Given the description of an element on the screen output the (x, y) to click on. 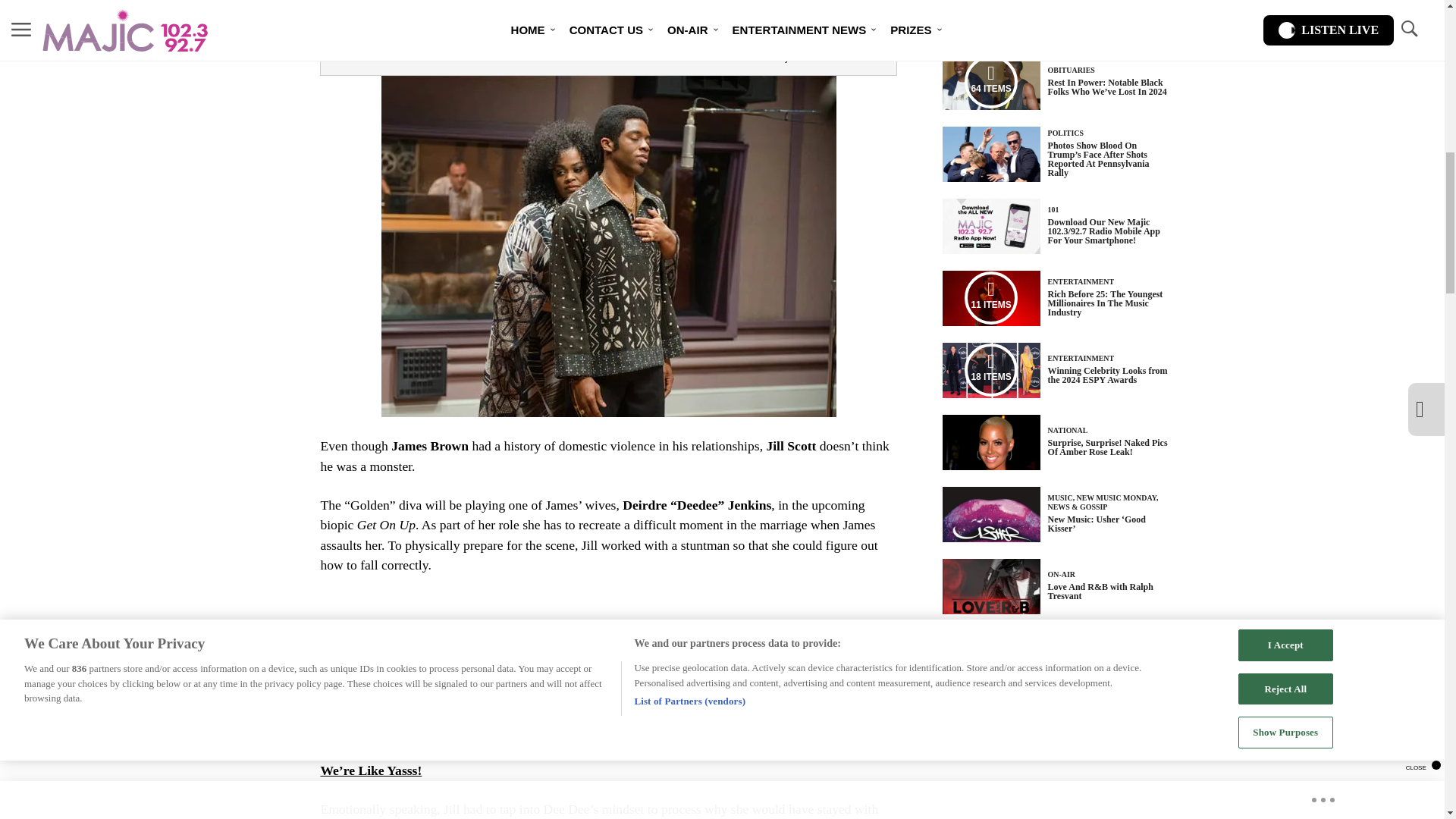
Media Playlist (990, 369)
Media Playlist (990, 81)
Media Playlist (990, 297)
